Given the description of an element on the screen output the (x, y) to click on. 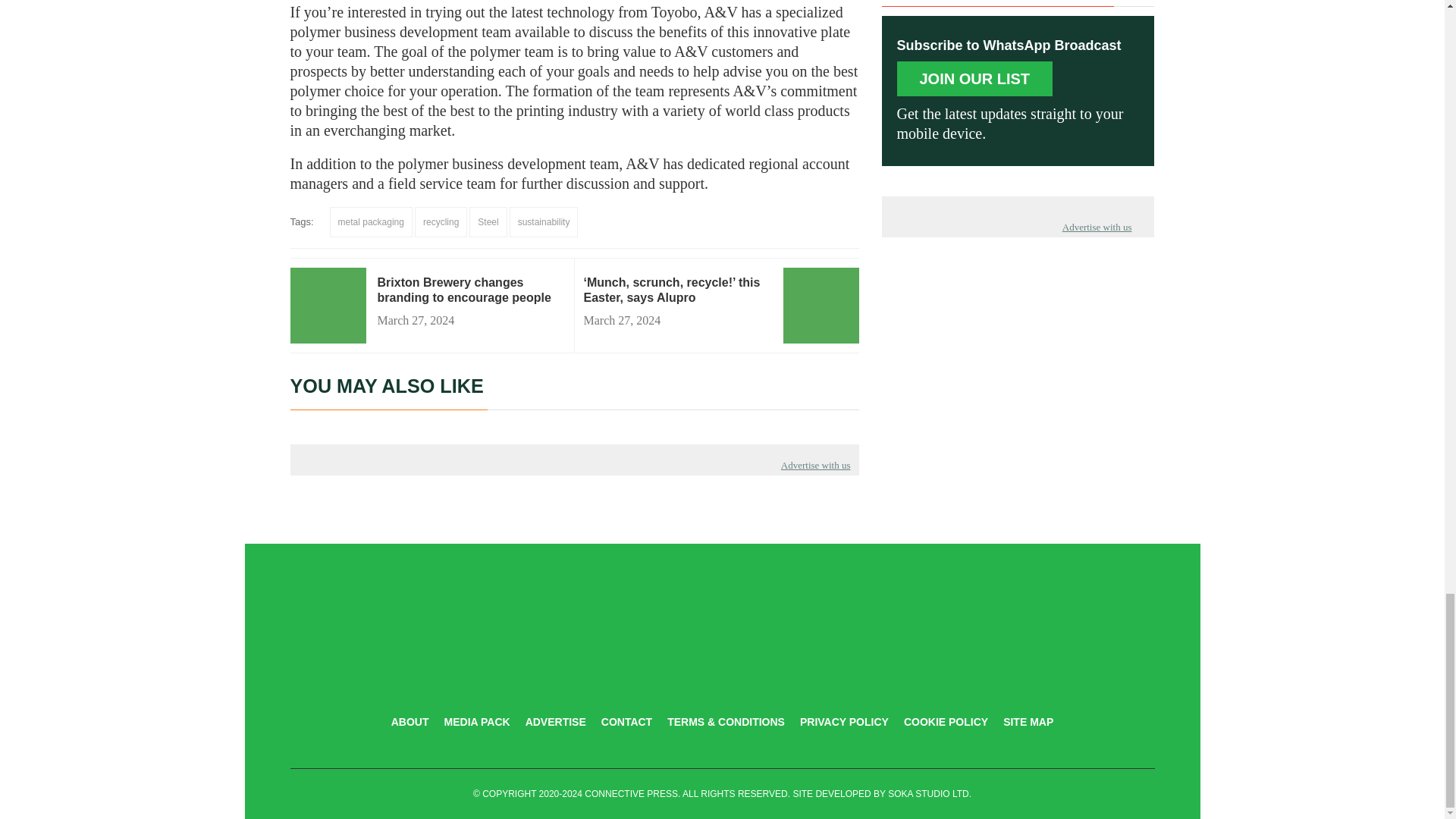
recycling (440, 222)
Brixton Brewery changes branding to encourage people to vote (470, 298)
metal packaging (371, 222)
prev post (470, 298)
sustainability (543, 222)
prev post (677, 290)
Steel (487, 222)
